Given the description of an element on the screen output the (x, y) to click on. 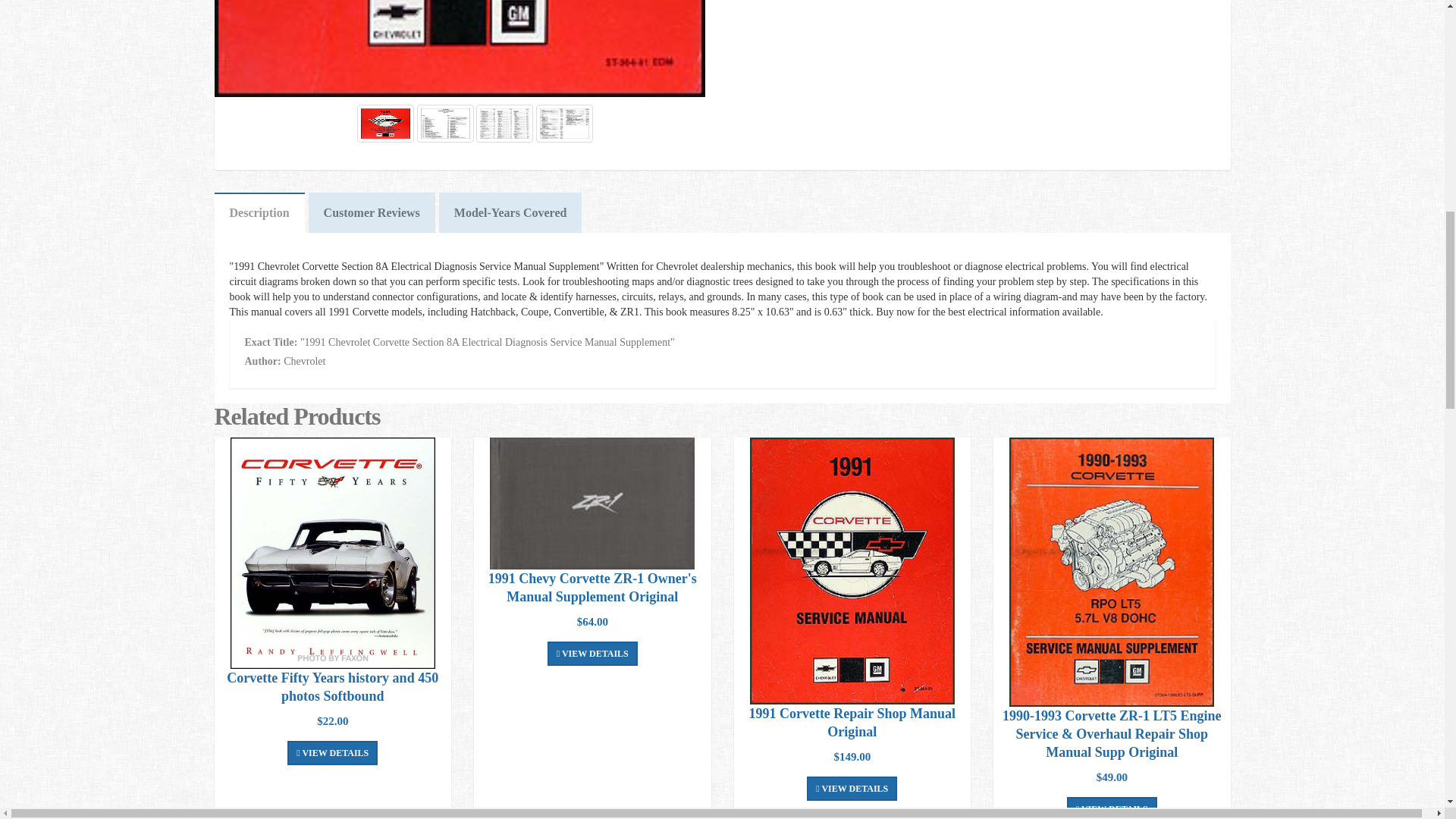
Customer Reviews (371, 212)
Model-Years Covered (510, 212)
Table of Contents Page 2 (504, 123)
Description (259, 212)
1991 Corvette Shop Manual Original (852, 570)
Table of Contents Page 1 (445, 123)
1991 Chevy Corvette ZR-1 Owner's Manual Supplement Original (591, 503)
Corvette Fifty Years history and 450 photos Softbound (332, 553)
Table of Contents Page 3 (563, 123)
1991 Chevy Corvette Electrical Diagnosis Manual Original (459, 48)
